Given the description of an element on the screen output the (x, y) to click on. 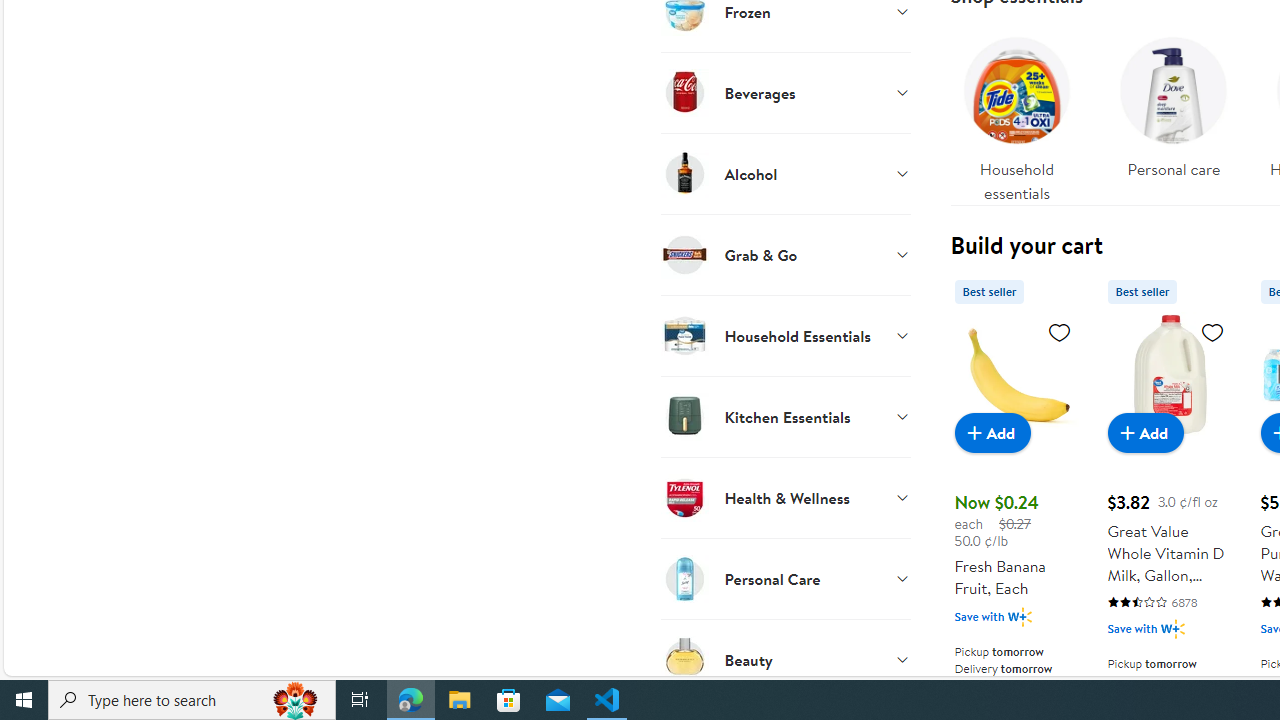
Household essentials (1016, 114)
Household Essentials (785, 335)
Alcohol (785, 173)
Health & Wellness (785, 497)
Kitchen Essentials (785, 416)
Personal care (1173, 114)
Household essentials (1016, 114)
Grab & Go (785, 254)
Beauty (785, 659)
Beverages (785, 92)
Sign in to add to Favorites list, Fresh Banana Fruit, Each (1059, 331)
